Given the description of an element on the screen output the (x, y) to click on. 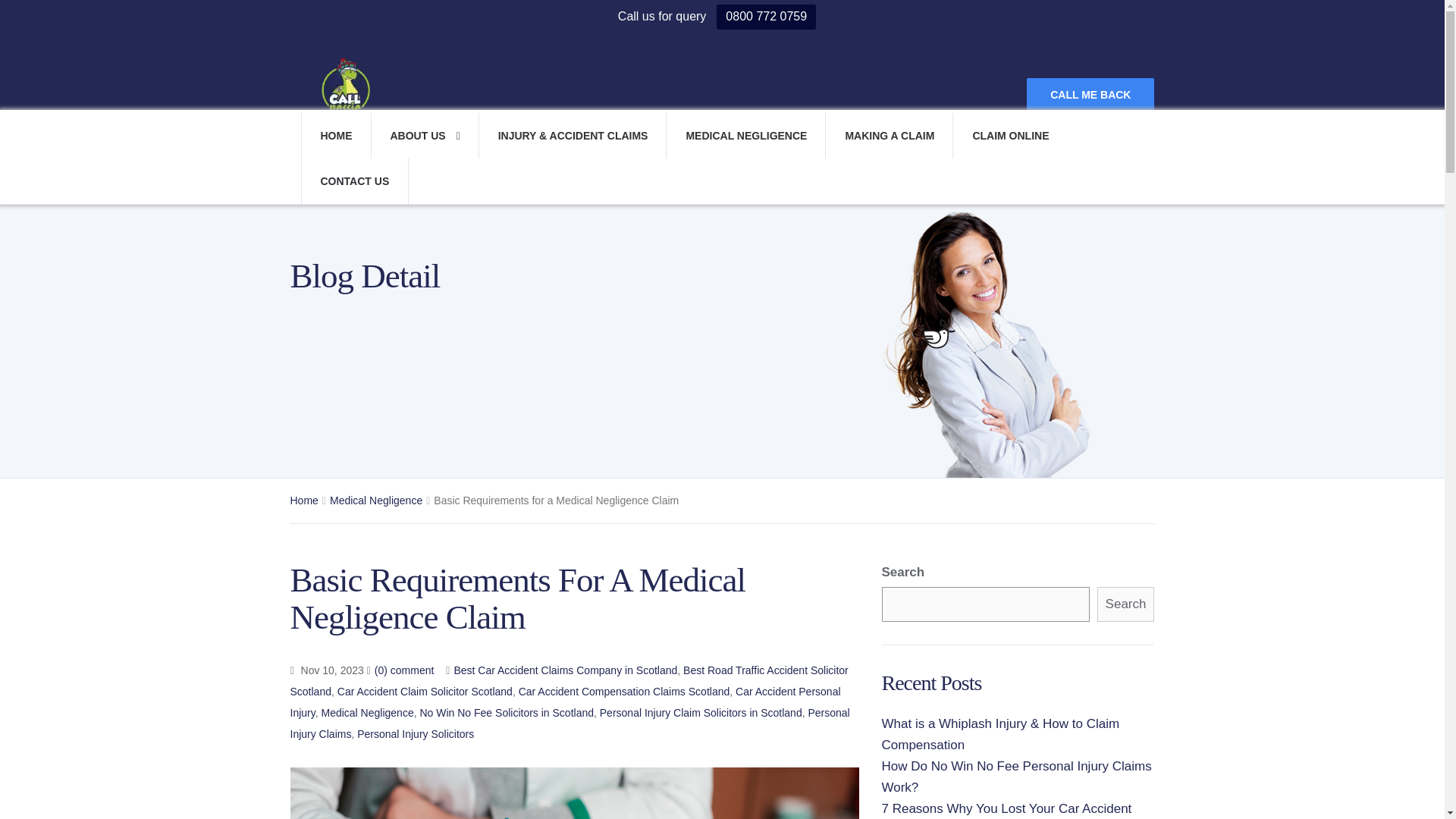
Personal Injury Solicitors (415, 734)
No Win No Fee Solicitors in Scotland (506, 712)
HOME (335, 135)
Car Accident Claim Solicitor Scotland (424, 691)
Medical Negligence (366, 712)
Home (303, 500)
ABOUT US (424, 135)
Personal Injury Claim Solicitors in Scotland (700, 712)
Making a claim (889, 135)
MAKING A CLAIM (889, 135)
Medical Negligence (376, 500)
Best Car Accident Claims Company in Scotland (564, 670)
Personal Injury Claims (568, 723)
Claim Online (1009, 135)
0800 772 0759 (765, 16)
